Given the description of an element on the screen output the (x, y) to click on. 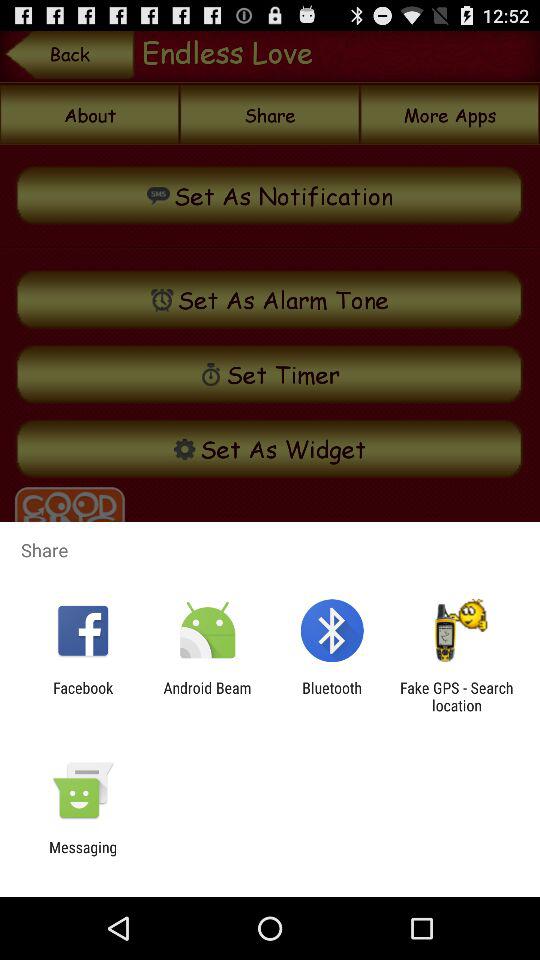
turn off icon next to the android beam (331, 696)
